Given the description of an element on the screen output the (x, y) to click on. 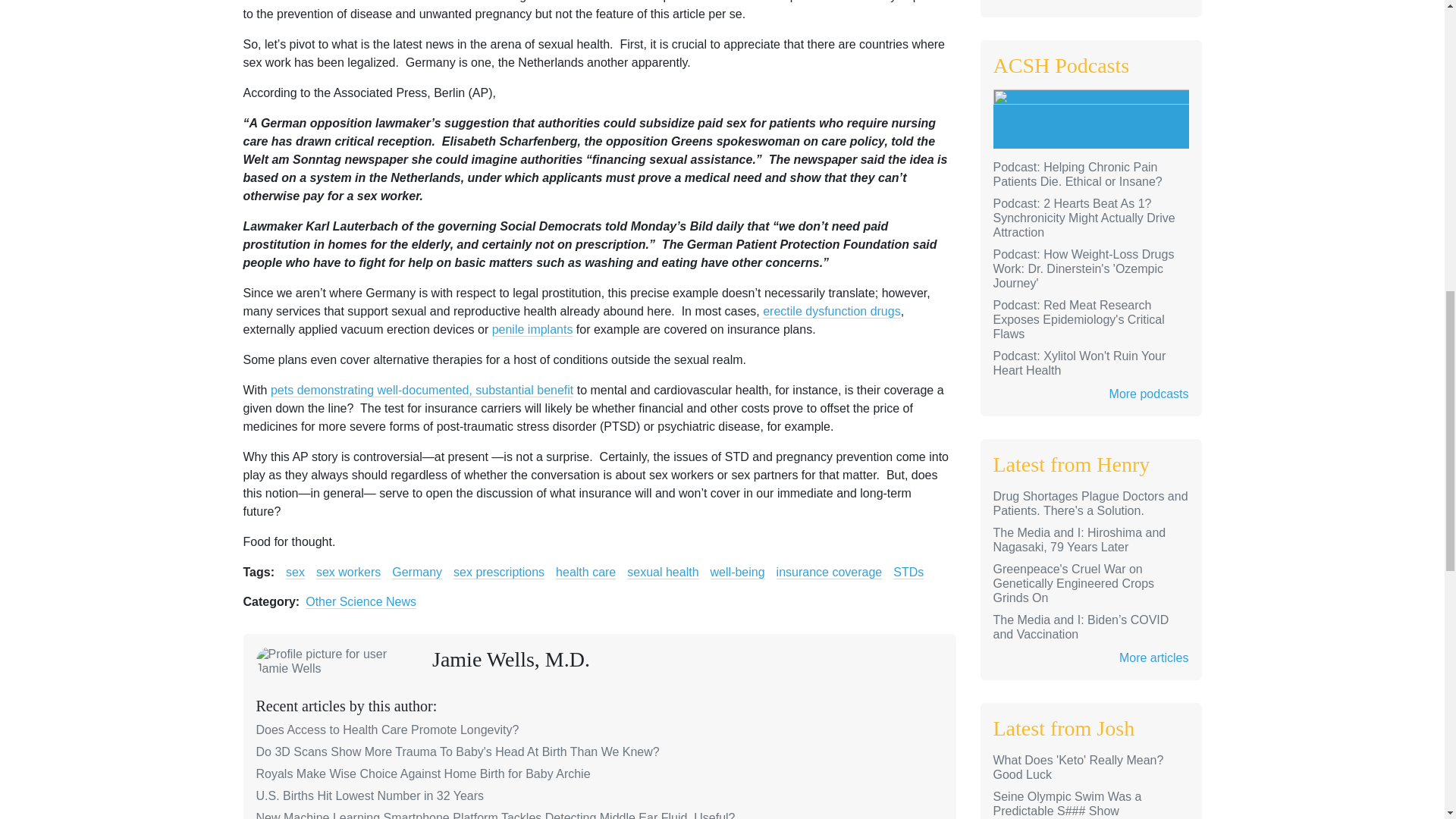
sex (294, 572)
penile implants (532, 329)
erectile dysfunction drugs (830, 311)
pets demonstrating well-documented, substantial benefit (421, 390)
